Given the description of an element on the screen output the (x, y) to click on. 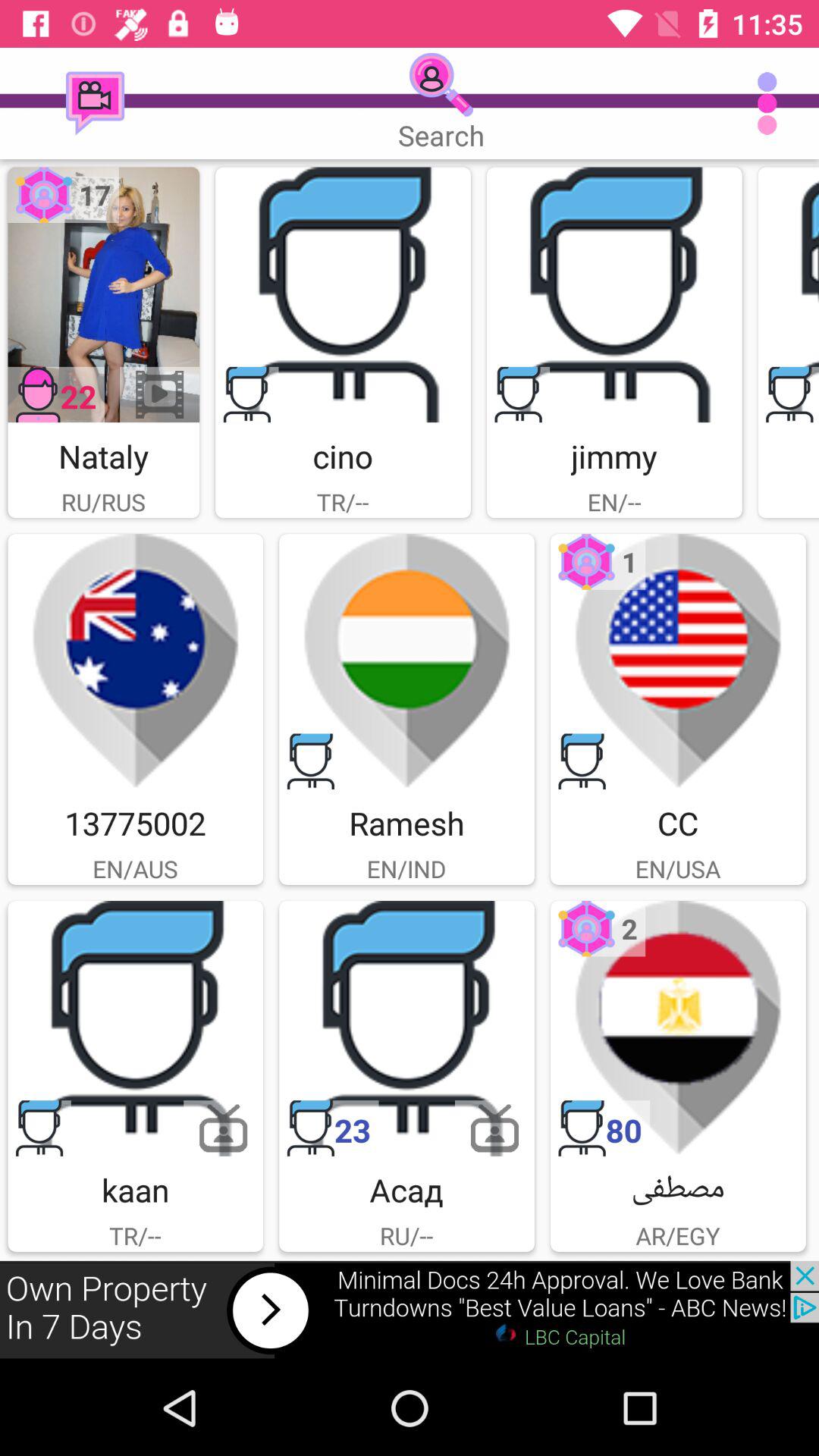
click the profile image (788, 294)
